Given the description of an element on the screen output the (x, y) to click on. 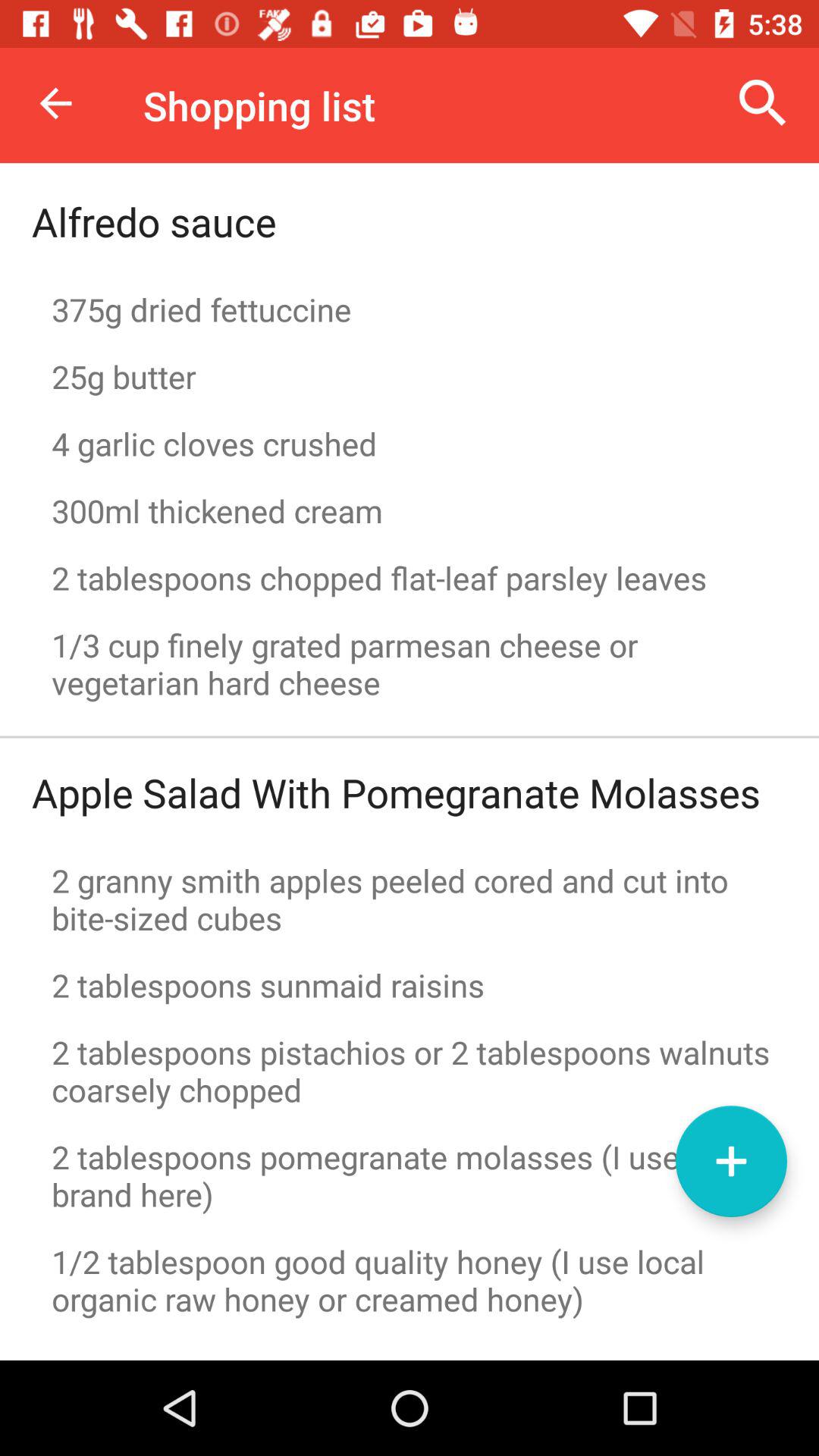
launch apple salad with (396, 792)
